Given the description of an element on the screen output the (x, y) to click on. 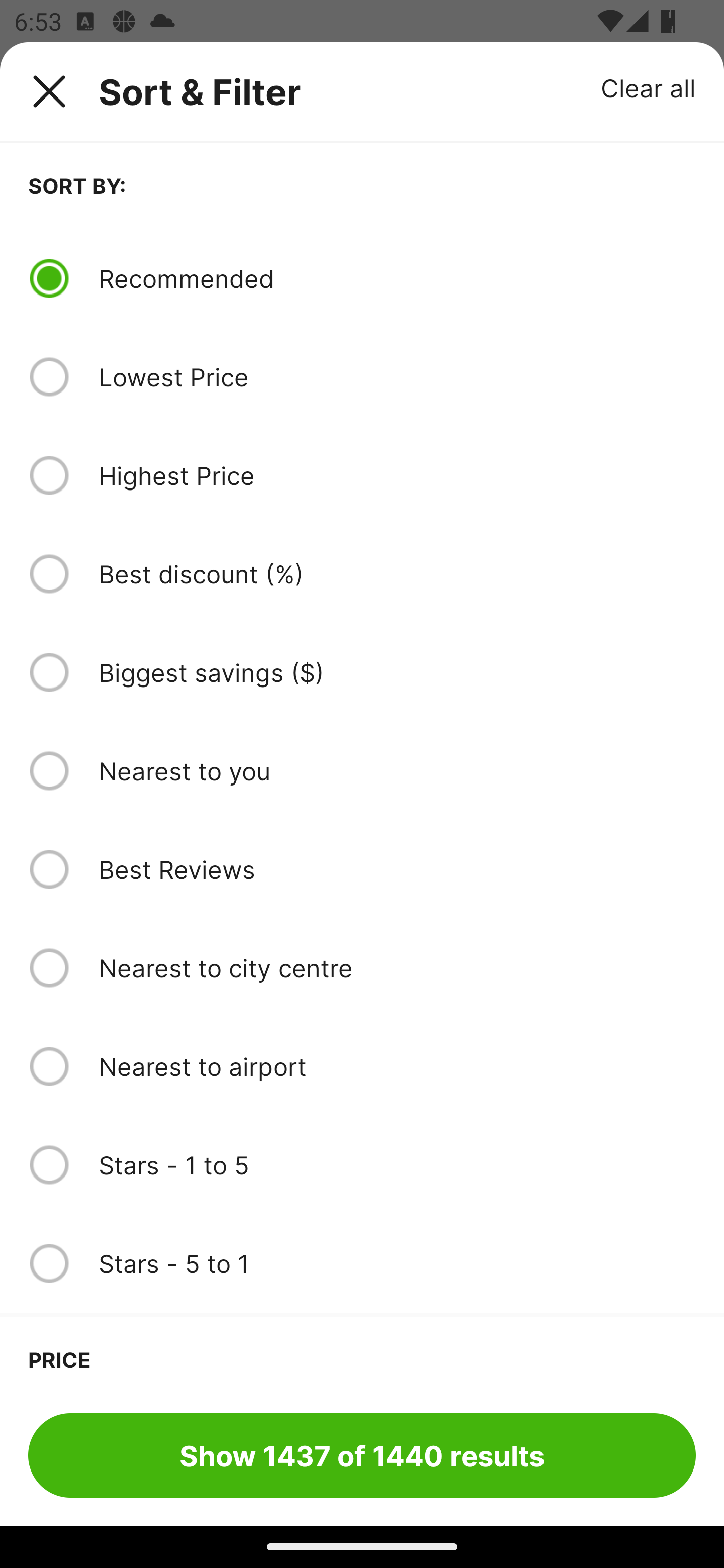
Clear all (648, 87)
Recommended  (396, 278)
Lowest Price (396, 377)
Highest Price (396, 474)
Best discount (%) (396, 573)
Biggest savings ($) (396, 672)
Nearest to you (396, 770)
Best Reviews (396, 869)
Nearest to city centre (396, 968)
Nearest to airport (396, 1065)
Show 1437 of 1440 results (361, 1454)
